Given the description of an element on the screen output the (x, y) to click on. 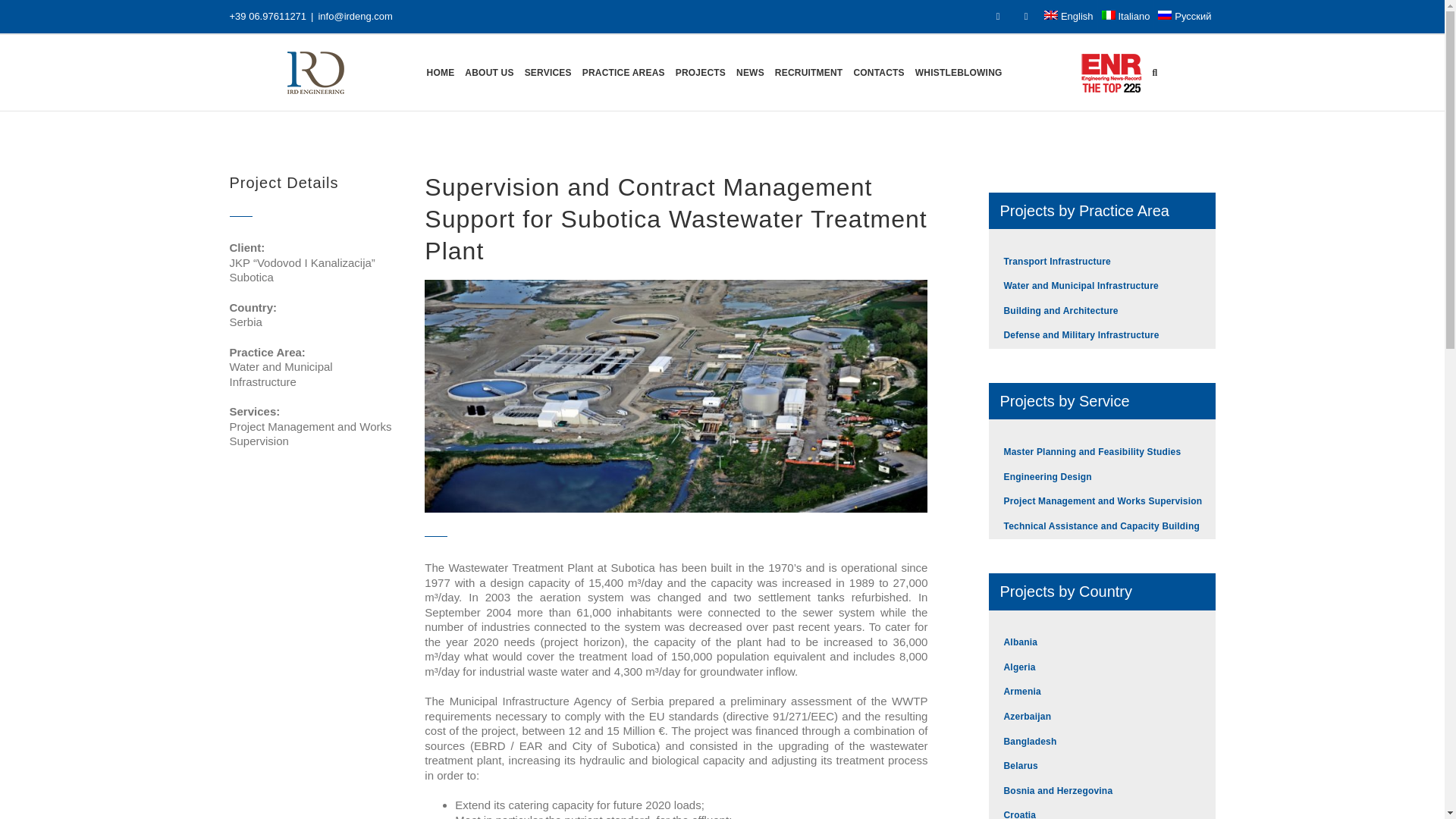
English (1069, 16)
English (1069, 16)
PRACTICE AREAS (623, 72)
WHISTLEBLOWING (959, 72)
RECRUITMENT (808, 72)
Italiano (1125, 16)
Italiano (1125, 16)
